Given the description of an element on the screen output the (x, y) to click on. 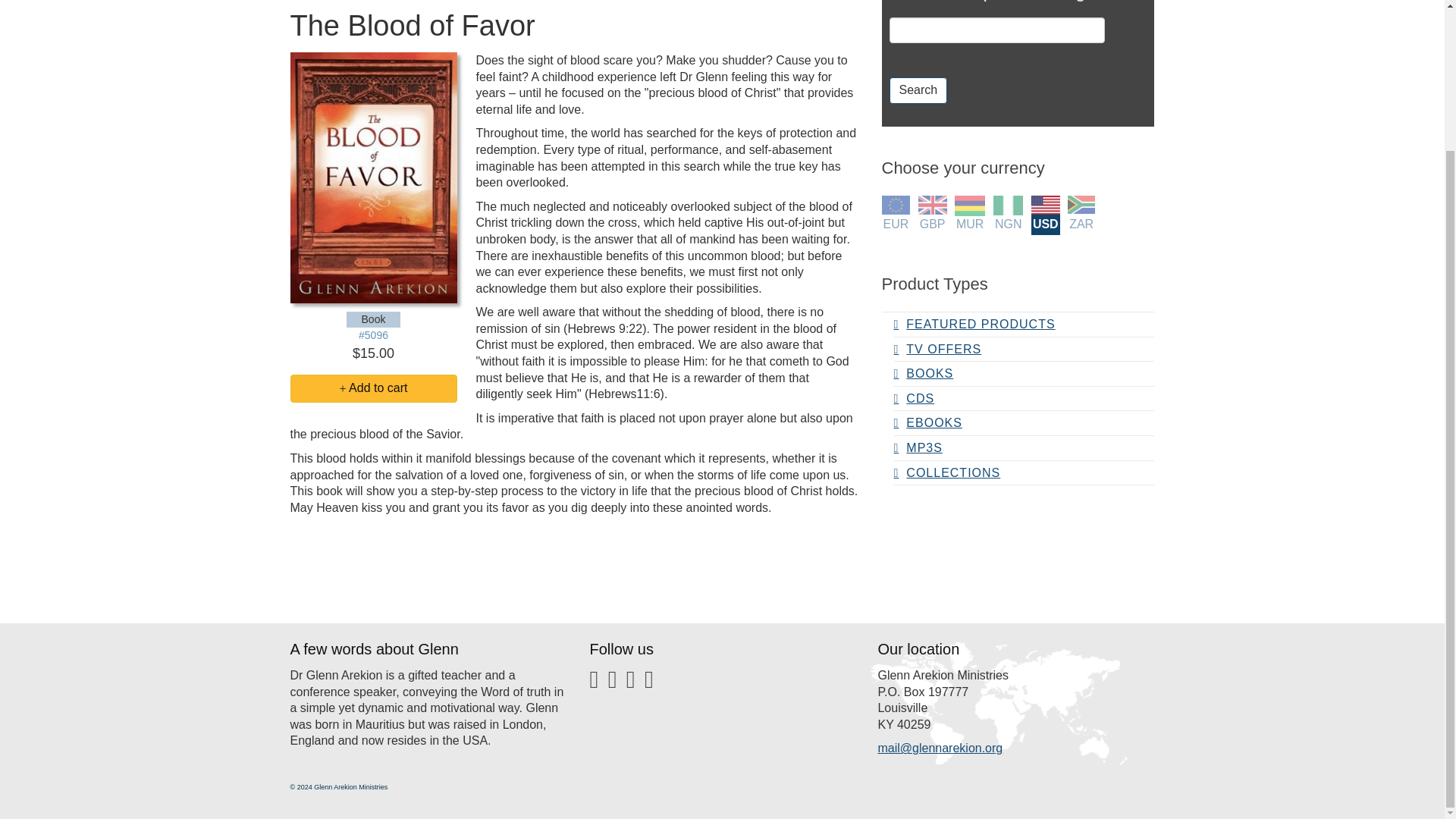
Add to cart (373, 388)
Search (917, 90)
